Given the description of an element on the screen output the (x, y) to click on. 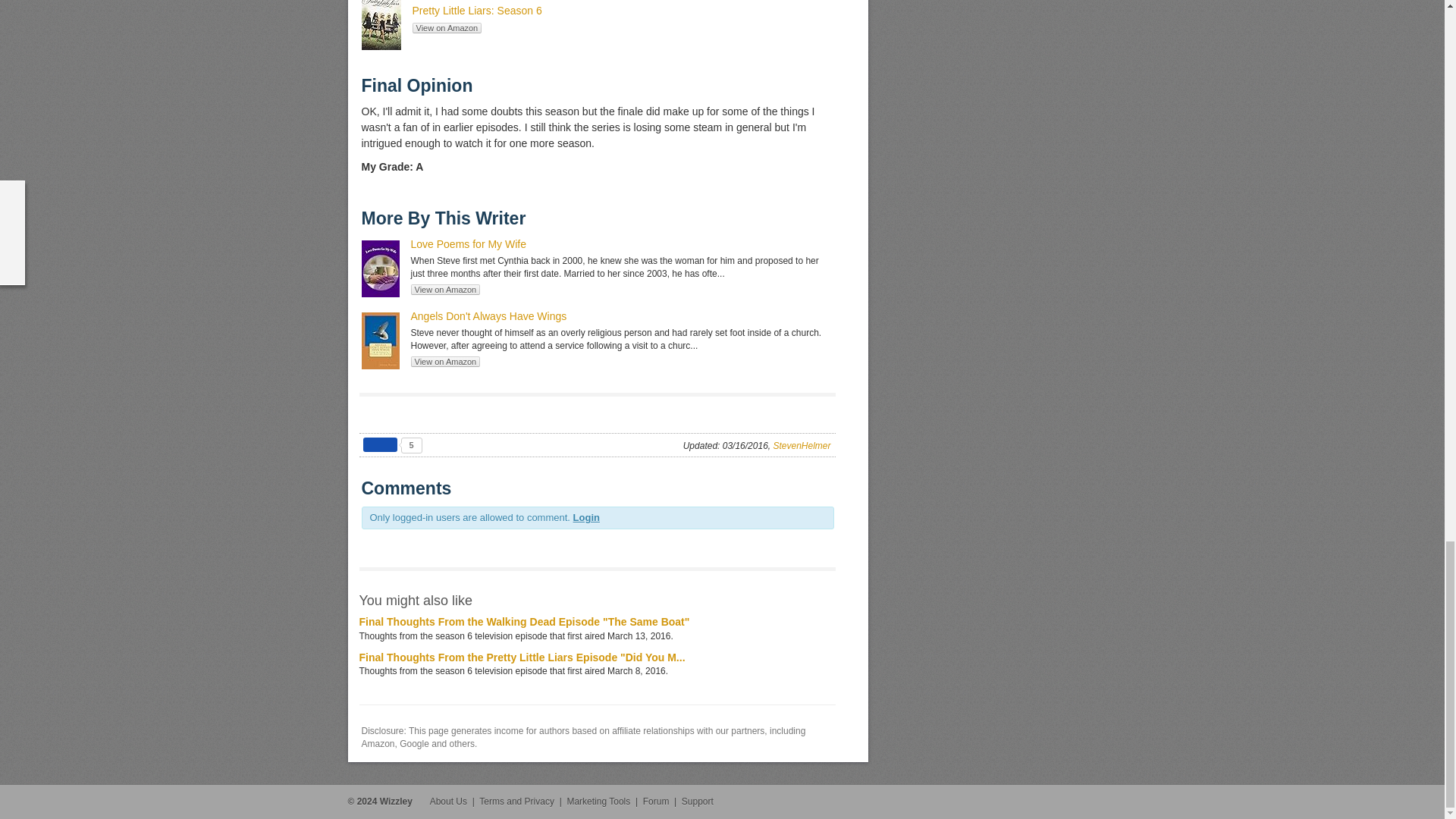
View on Amazon (445, 289)
Love Poems for My Wife (468, 244)
View on Amazon (446, 27)
Angels Don't Always Have Wings (488, 316)
Twitter (1087, 802)
View on Amazon (445, 361)
Facebook (1064, 802)
Pretty Little Liars: Season 6 (476, 10)
StevenHelmer (801, 445)
